Given the description of an element on the screen output the (x, y) to click on. 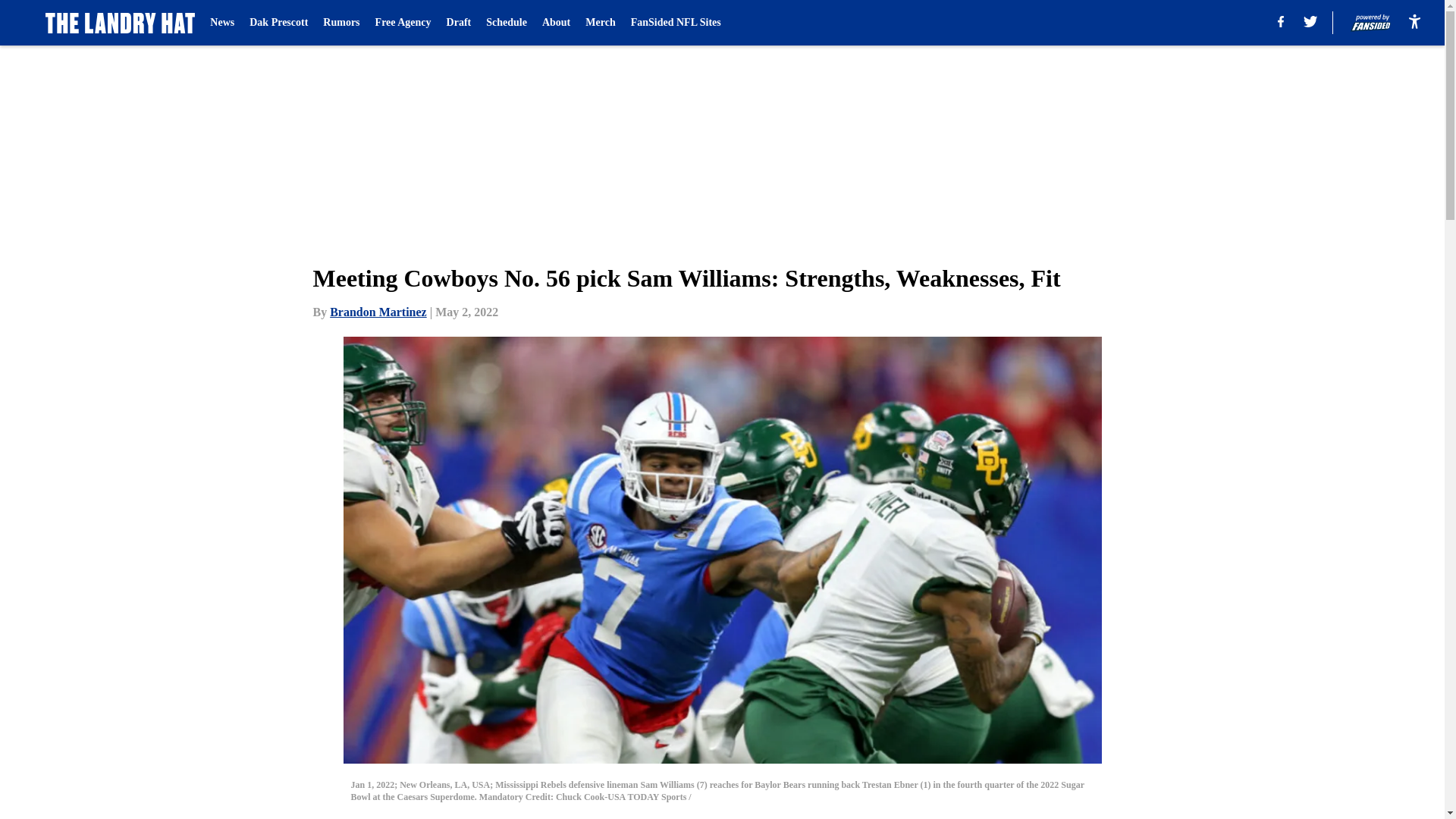
Free Agency (402, 22)
Draft (458, 22)
Rumors (341, 22)
Brandon Martinez (378, 311)
Dak Prescott (277, 22)
Schedule (506, 22)
About (555, 22)
News (221, 22)
Merch (599, 22)
FanSided NFL Sites (675, 22)
